Given the description of an element on the screen output the (x, y) to click on. 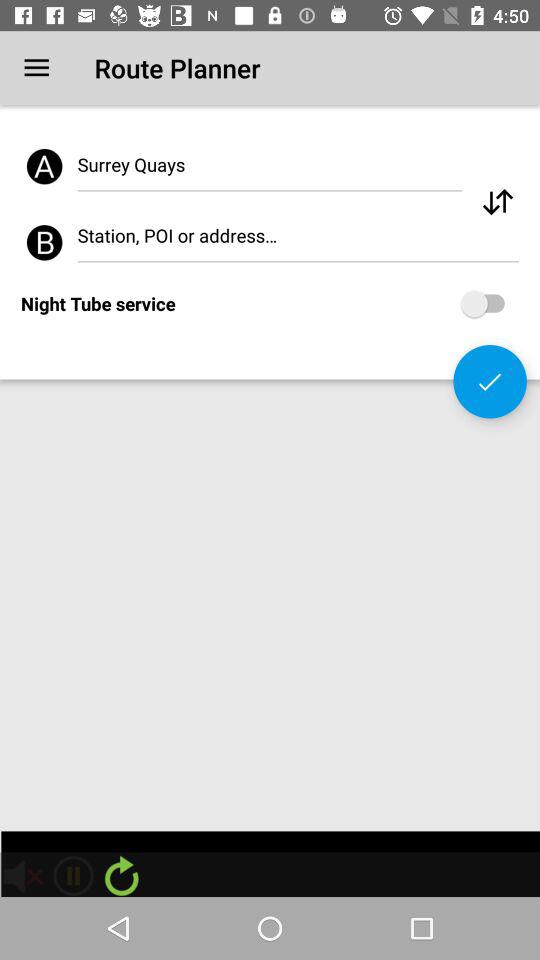
done (489, 381)
